Given the description of an element on the screen output the (x, y) to click on. 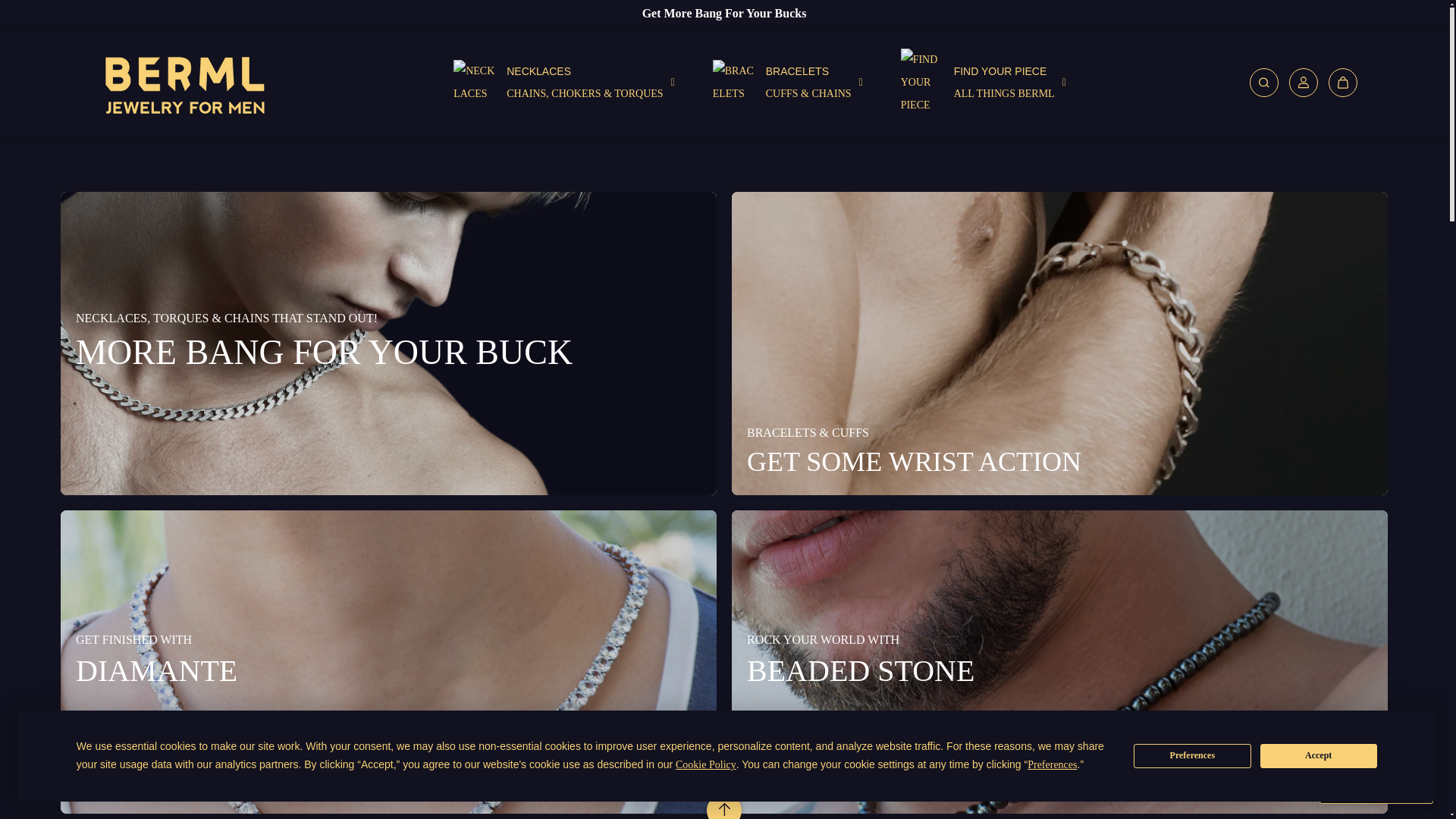
Accept (1318, 755)
FIND YOUR PIECE (983, 82)
Preferences (983, 82)
NECKLACES (1192, 755)
BRACELETS (563, 82)
Skip to content (788, 82)
